Given the description of an element on the screen output the (x, y) to click on. 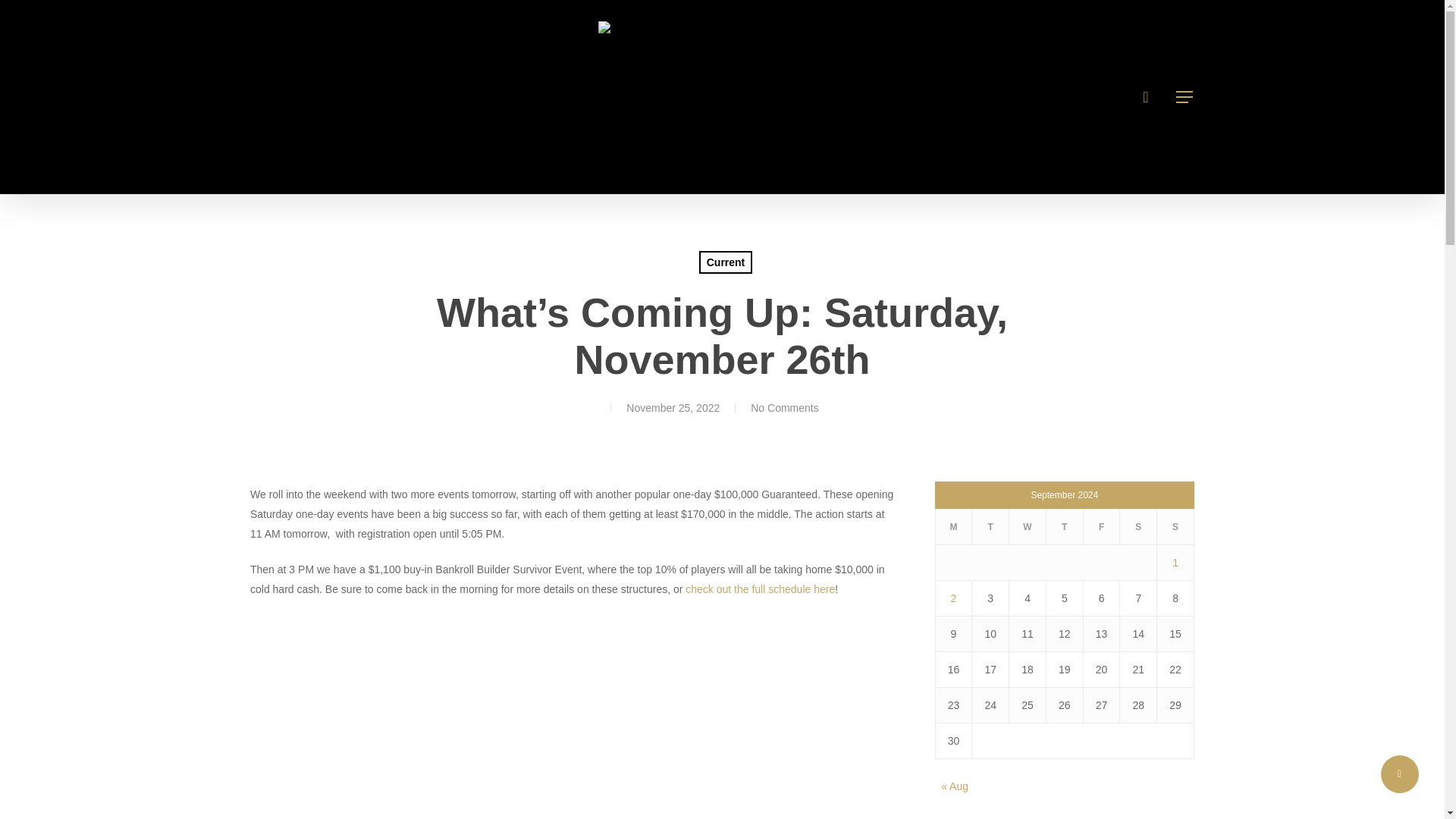
Friday (1101, 527)
check out the full schedule here (759, 589)
Tuesday (990, 527)
Monday (953, 527)
No Comments (784, 408)
Current (725, 261)
Sunday (1175, 527)
Menu (1184, 97)
Wednesday (1027, 527)
search (1145, 97)
